Given the description of an element on the screen output the (x, y) to click on. 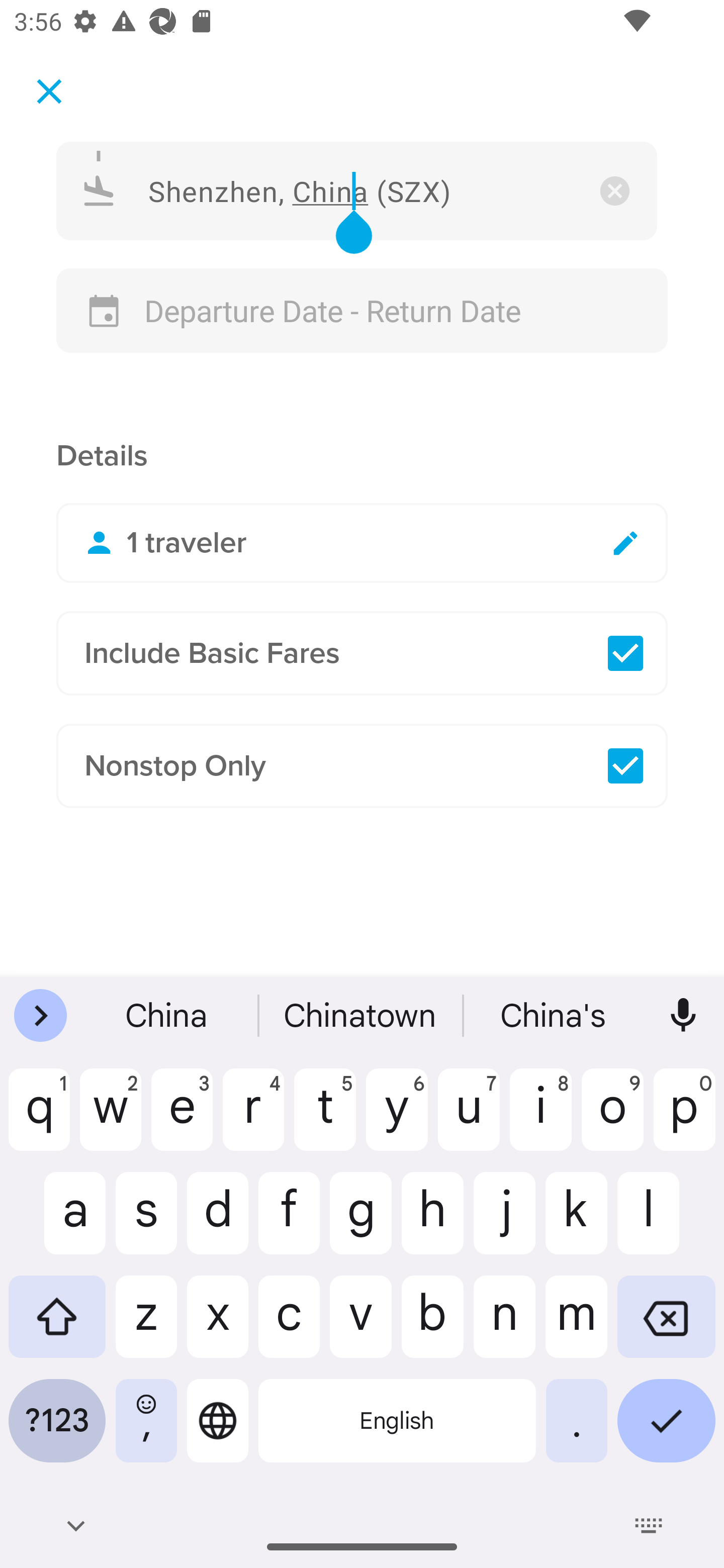
Cancel (49, 90)
Shenzhen, China (SZX) (356, 190)
Departure Date - Return Date (361, 310)
1 traveler Edit Travelers (361, 542)
Include Basic Fares (361, 653)
Nonstop Only (361, 765)
